Given the description of an element on the screen output the (x, y) to click on. 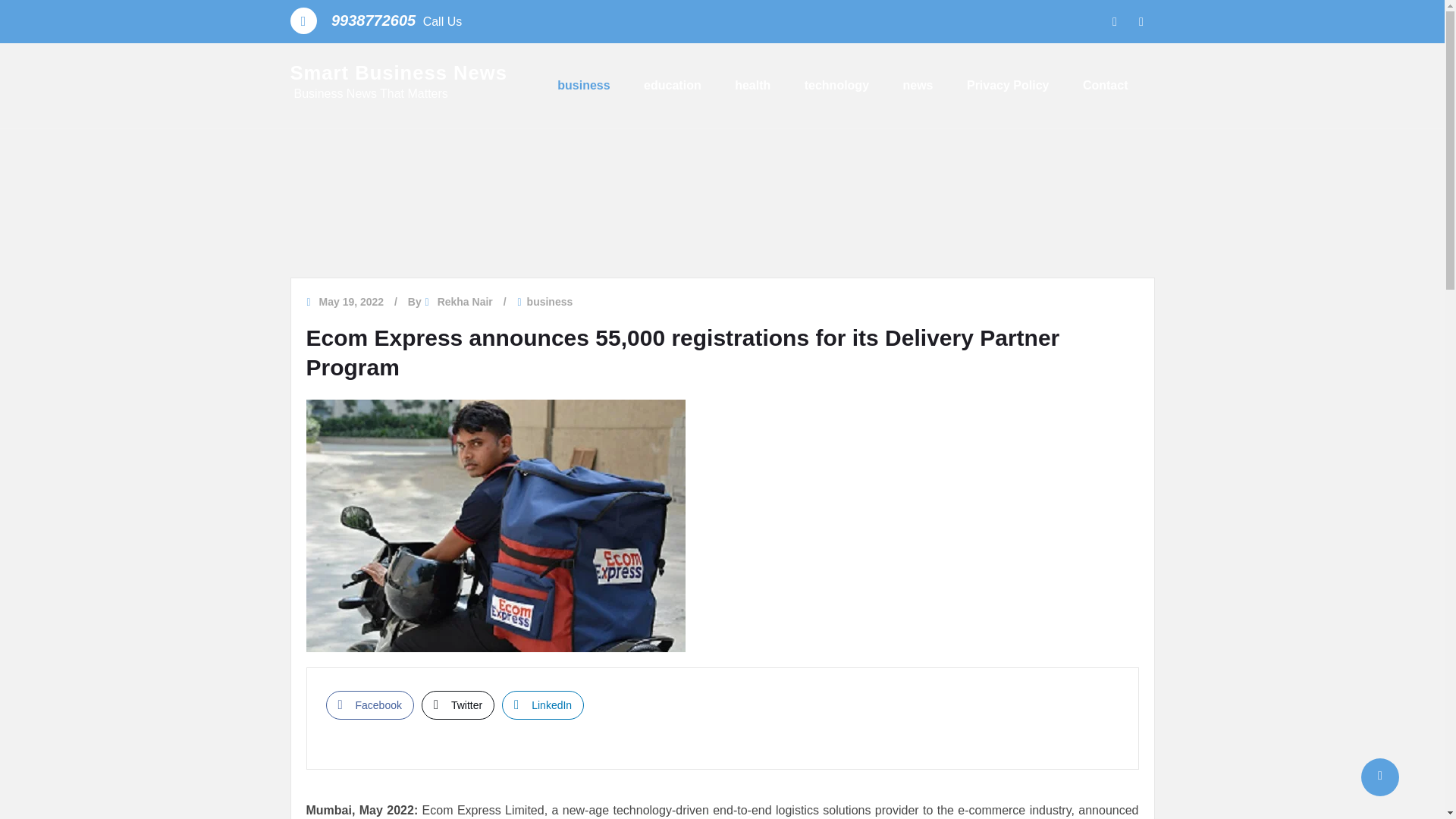
Smart Business News (397, 73)
Facebook (369, 705)
Twitter (458, 705)
LinkedIn (542, 705)
Rekha Nair (465, 302)
Contact (1105, 84)
business (550, 302)
May 19, 2022 (351, 302)
education (672, 84)
health (752, 84)
news (917, 84)
business (583, 84)
Privacy Policy (1007, 84)
technology (837, 84)
